Given the description of an element on the screen output the (x, y) to click on. 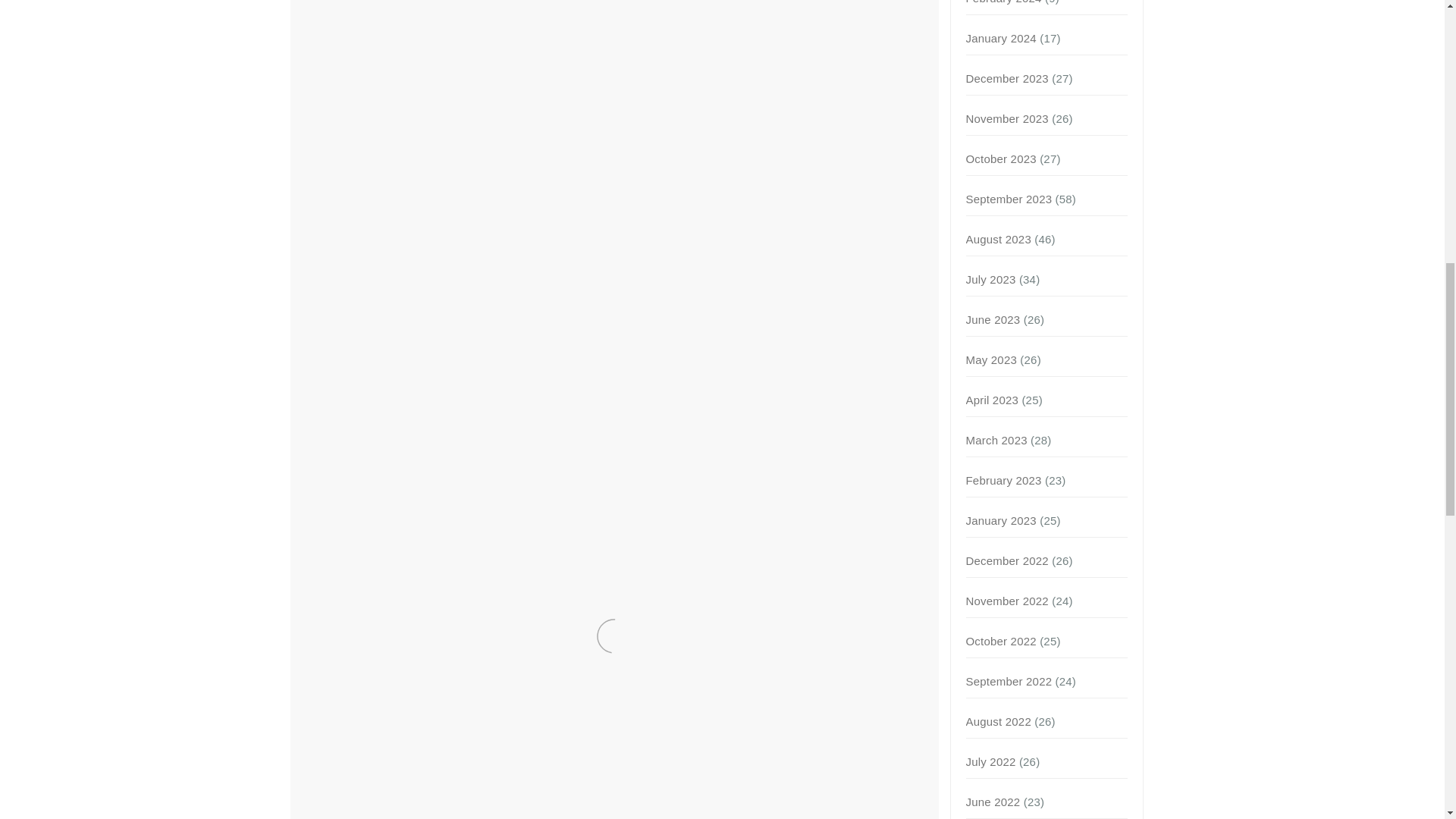
September 2023 (1009, 198)
July 2023 (991, 278)
December 2023 (1007, 78)
November 2022 (1007, 600)
April 2023 (992, 399)
November 2023 (1007, 118)
January 2024 (1001, 38)
February 2023 (1004, 480)
December 2022 (1007, 560)
March 2023 (996, 440)
